Given the description of an element on the screen output the (x, y) to click on. 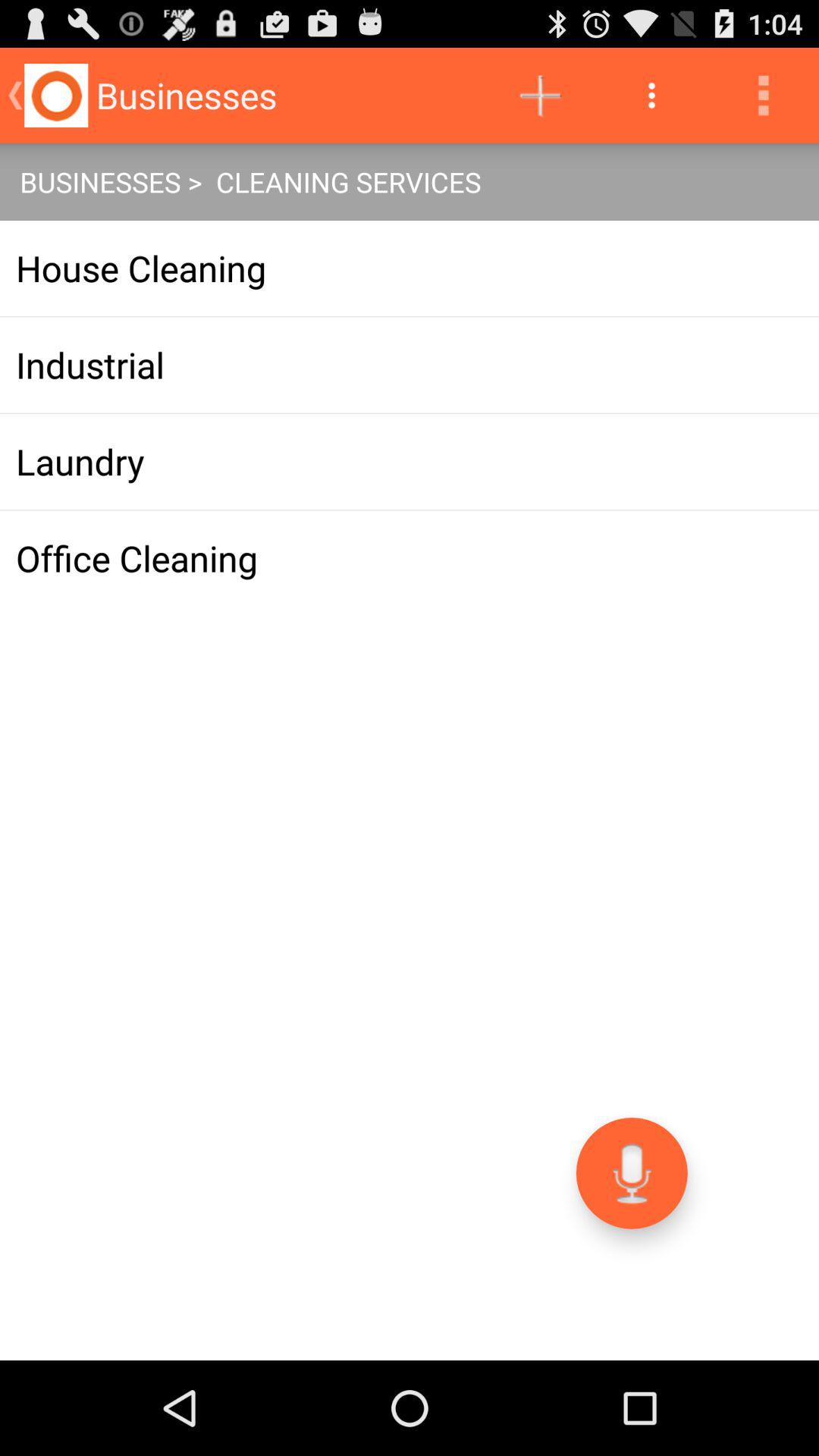
choose the icon below the businesses >  cleaning services item (409, 268)
